Given the description of an element on the screen output the (x, y) to click on. 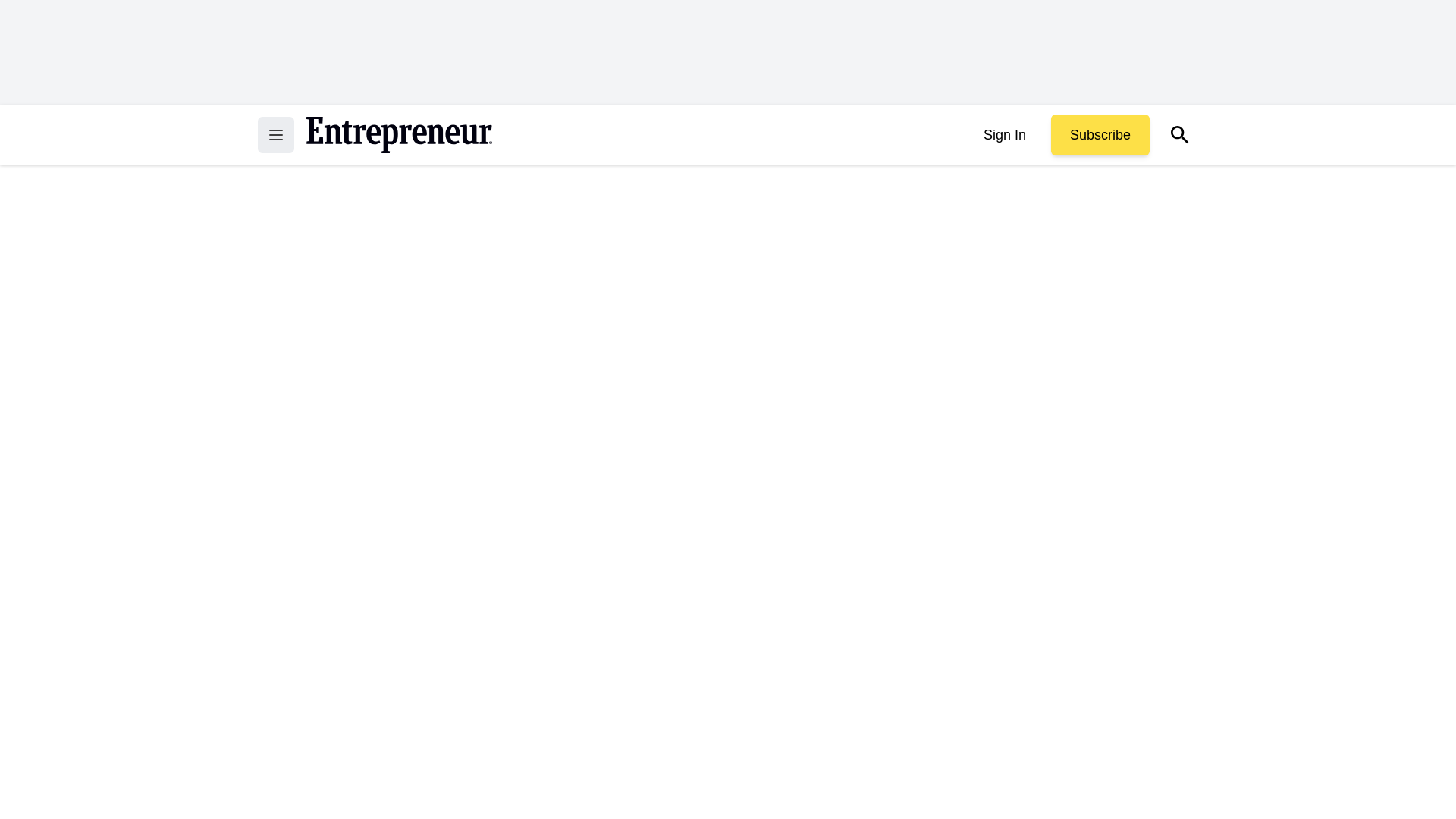
Subscribe (1100, 134)
Sign In (1004, 134)
Return to the home page (398, 135)
